Given the description of an element on the screen output the (x, y) to click on. 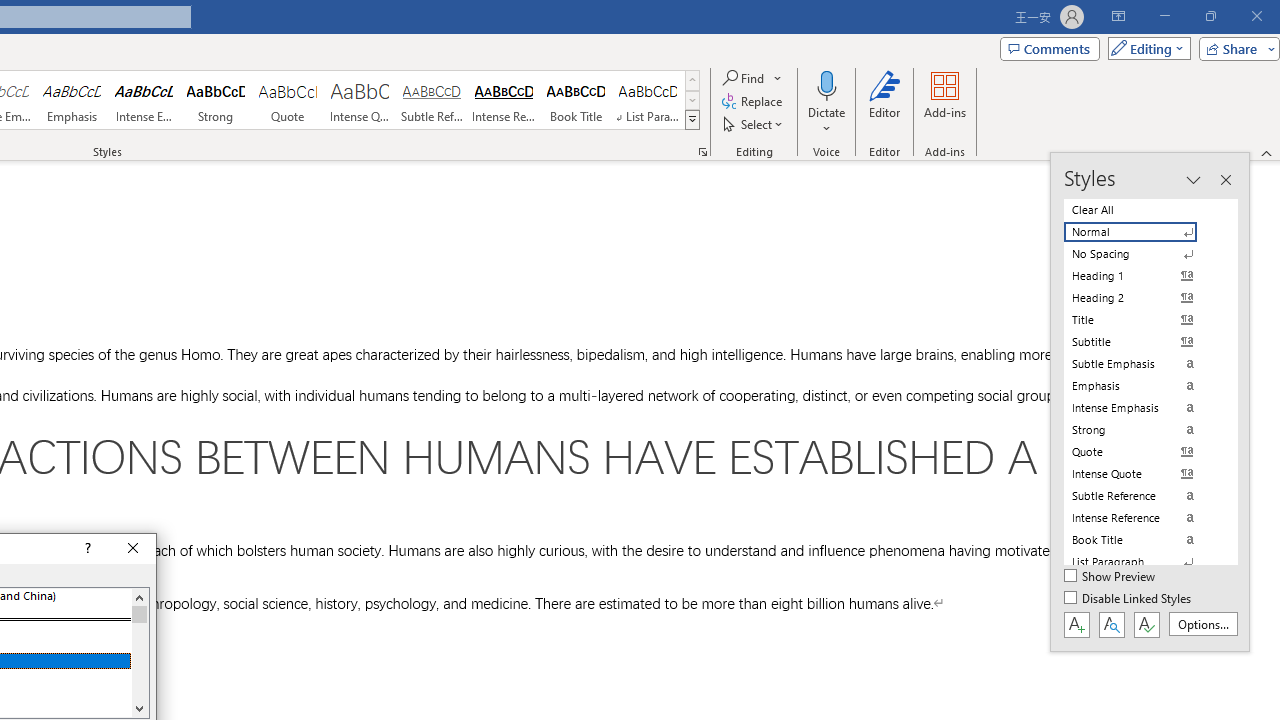
Intense Emphasis (143, 100)
Editing (1144, 47)
Clear All (1142, 209)
Row Down (692, 100)
Styles (692, 120)
Line down (139, 708)
Comments (1049, 48)
Dictate (826, 102)
Find (744, 78)
Dictate (826, 84)
Class: NetUIButton (1146, 624)
Show Preview (1110, 577)
Find (753, 78)
Replace... (753, 101)
